Given the description of an element on the screen output the (x, y) to click on. 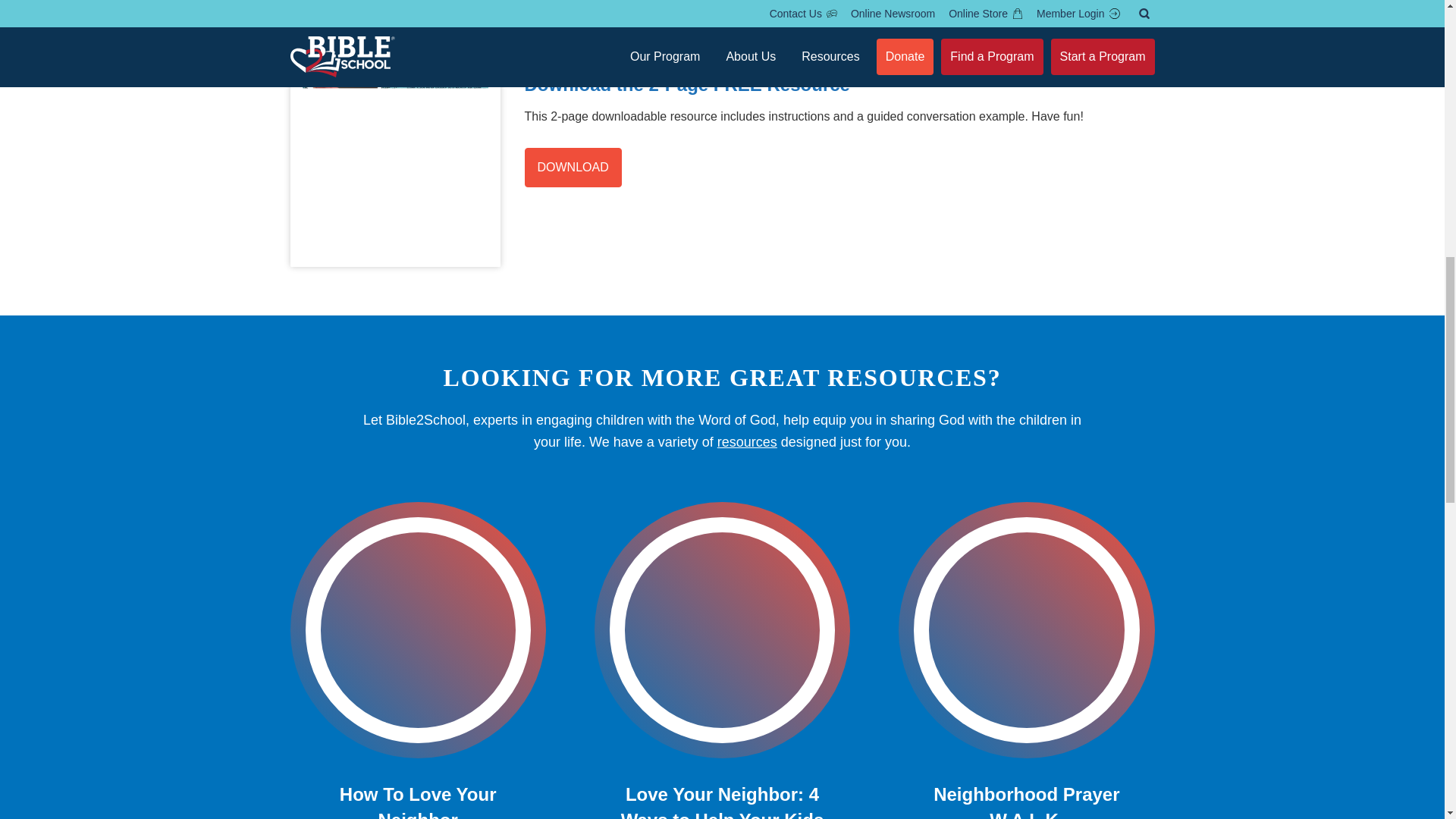
DOWNLOAD (572, 167)
resources (747, 441)
